Given the description of an element on the screen output the (x, y) to click on. 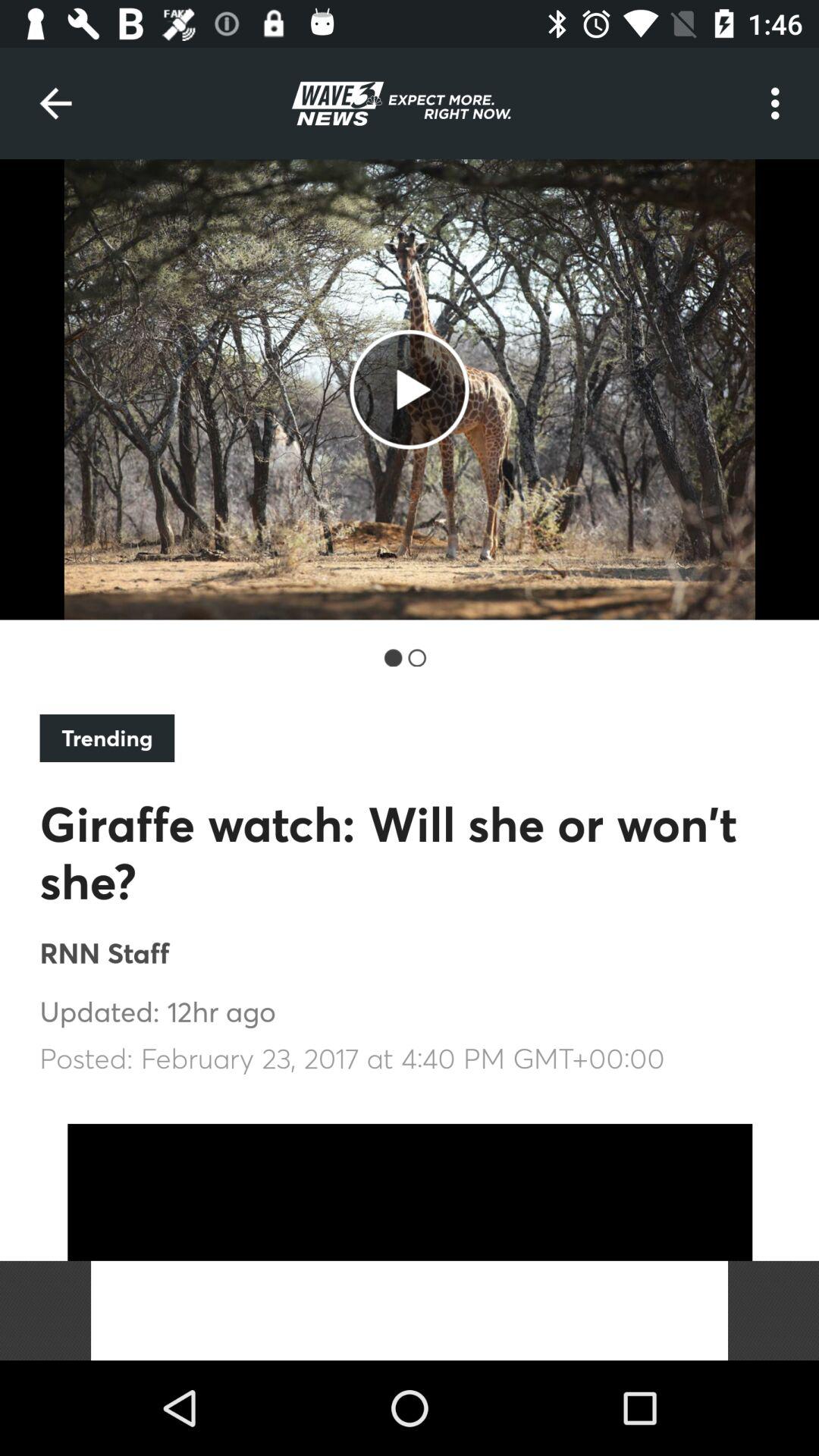
swipe until trending icon (106, 738)
